Given the description of an element on the screen output the (x, y) to click on. 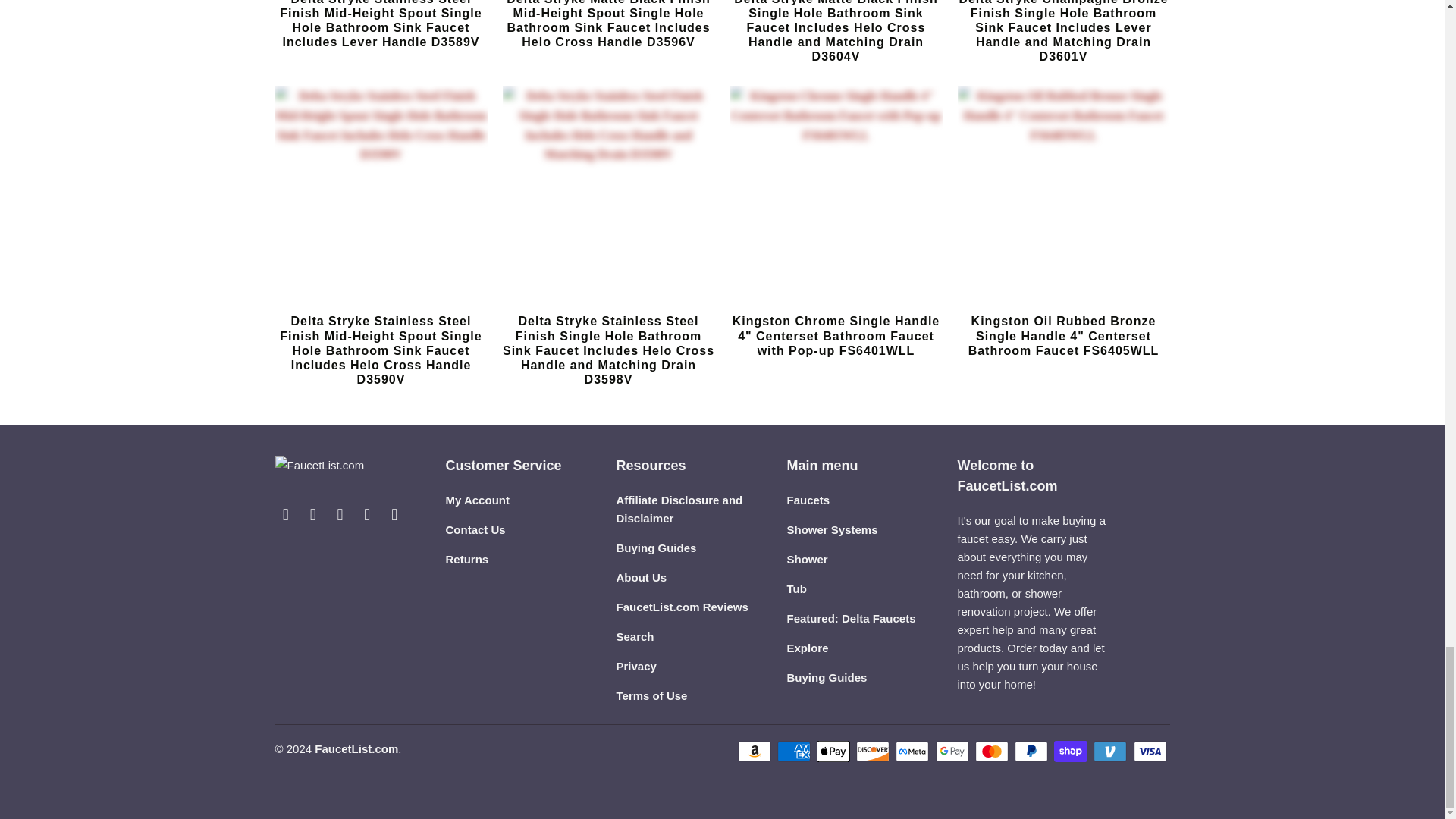
Visa (1150, 751)
PayPal (1032, 751)
Google Pay (954, 751)
Venmo (1111, 751)
Amazon (756, 751)
Mastercard (993, 751)
American Express (795, 751)
Shop Pay (1072, 751)
Discover (874, 751)
Apple Pay (834, 751)
